Given the description of an element on the screen output the (x, y) to click on. 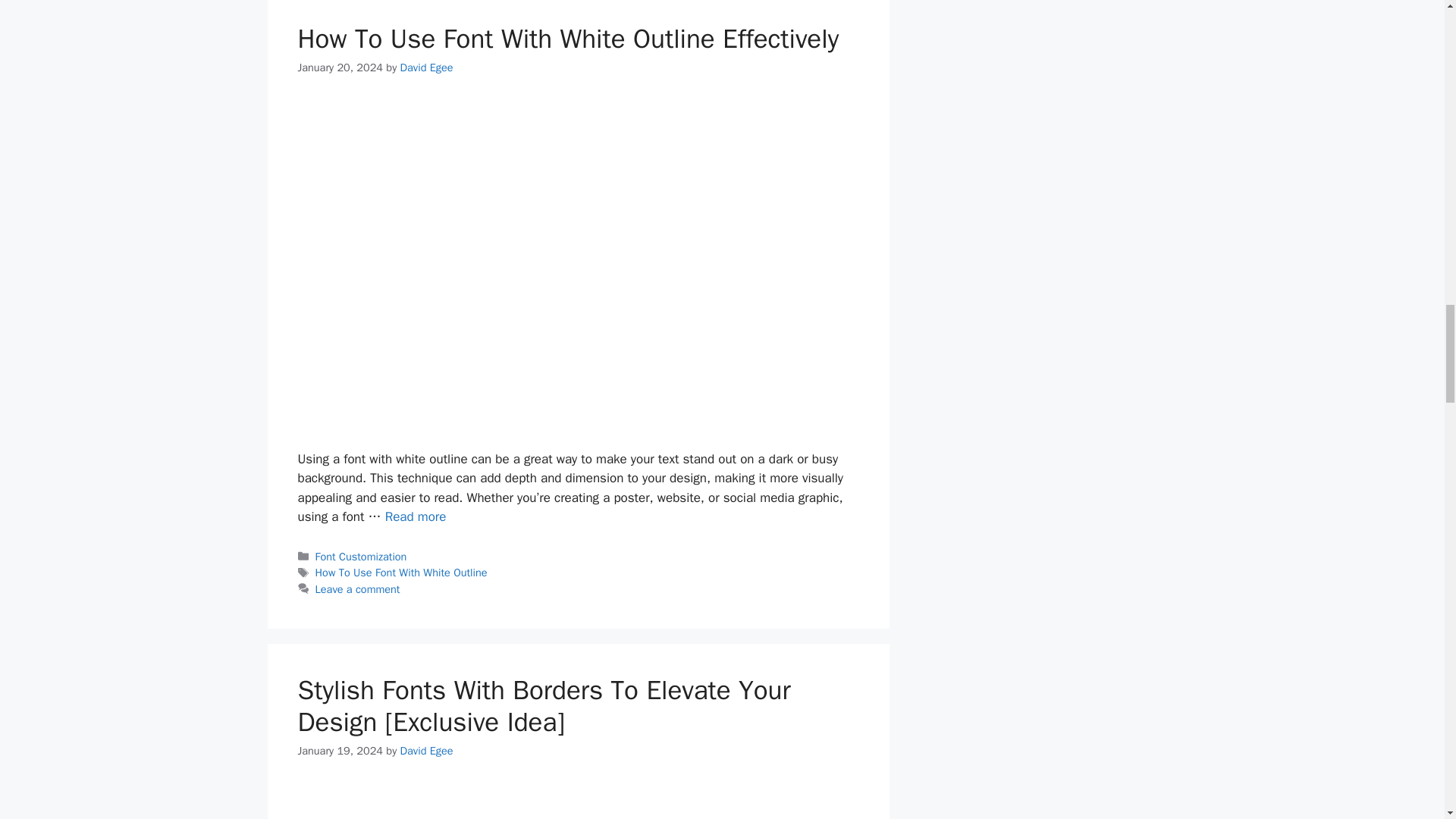
How To Use Font With White Outline Effectively (415, 516)
View all posts by David Egee (426, 750)
David Egee (426, 67)
Read more (415, 516)
How To Use Font With White Outline Effectively (567, 38)
View all posts by David Egee (426, 67)
